Given the description of an element on the screen output the (x, y) to click on. 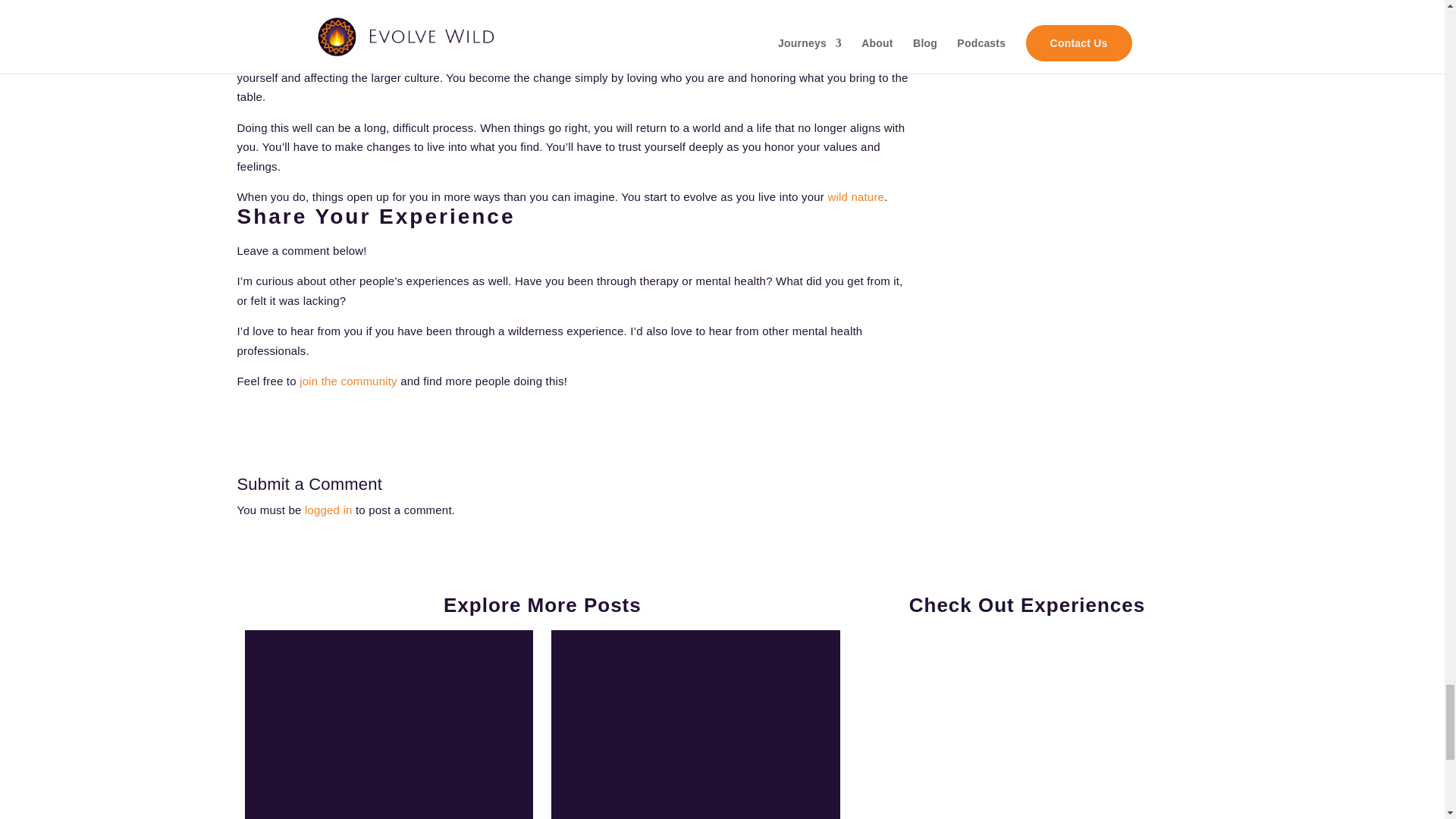
wild nature (855, 196)
logged in (328, 509)
join the community (347, 380)
your development (816, 57)
